Given the description of an element on the screen output the (x, y) to click on. 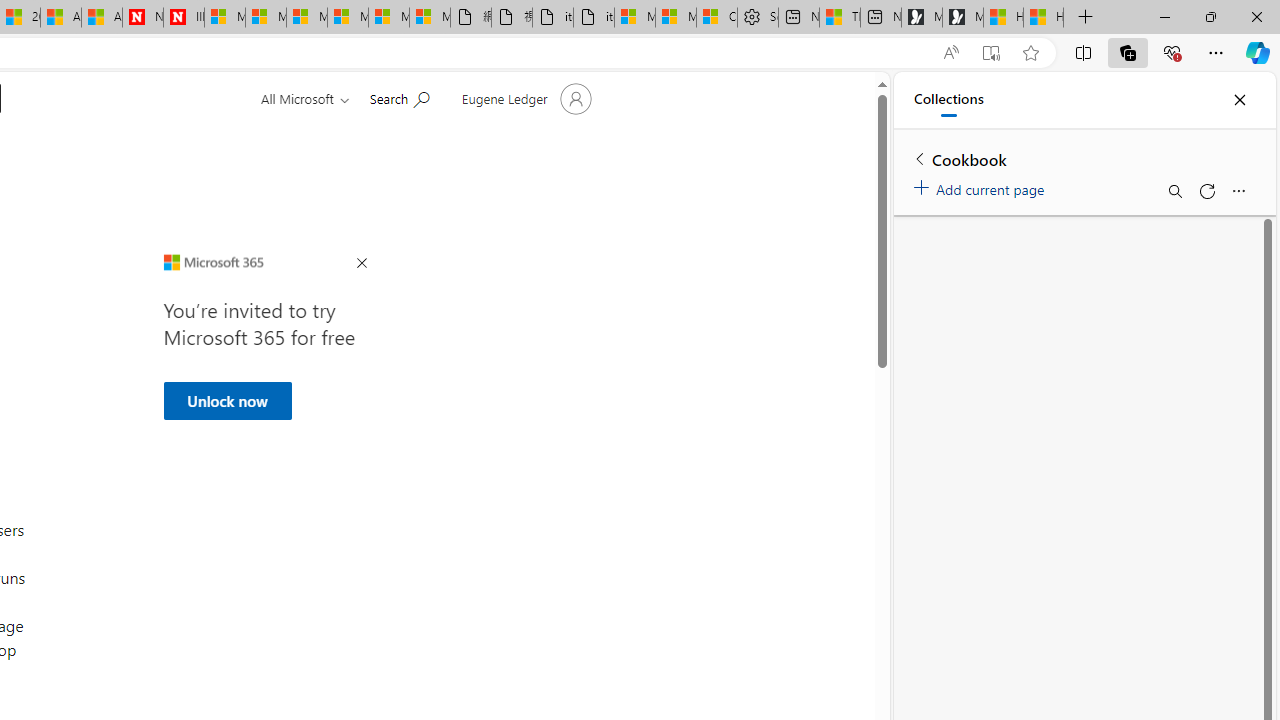
Microsoft Services Agreement (265, 17)
itconcepthk.com/projector_solutions.mp4 (593, 17)
Search (1174, 190)
Add this page to favorites (Ctrl+D) (1030, 53)
Settings (758, 17)
New Tab (1085, 17)
Back to list of collections (920, 158)
New tab (881, 17)
Minimize (1164, 16)
Collections (1128, 52)
Split screen (1083, 52)
Refresh (1206, 190)
Close Ad (361, 264)
